Given the description of an element on the screen output the (x, y) to click on. 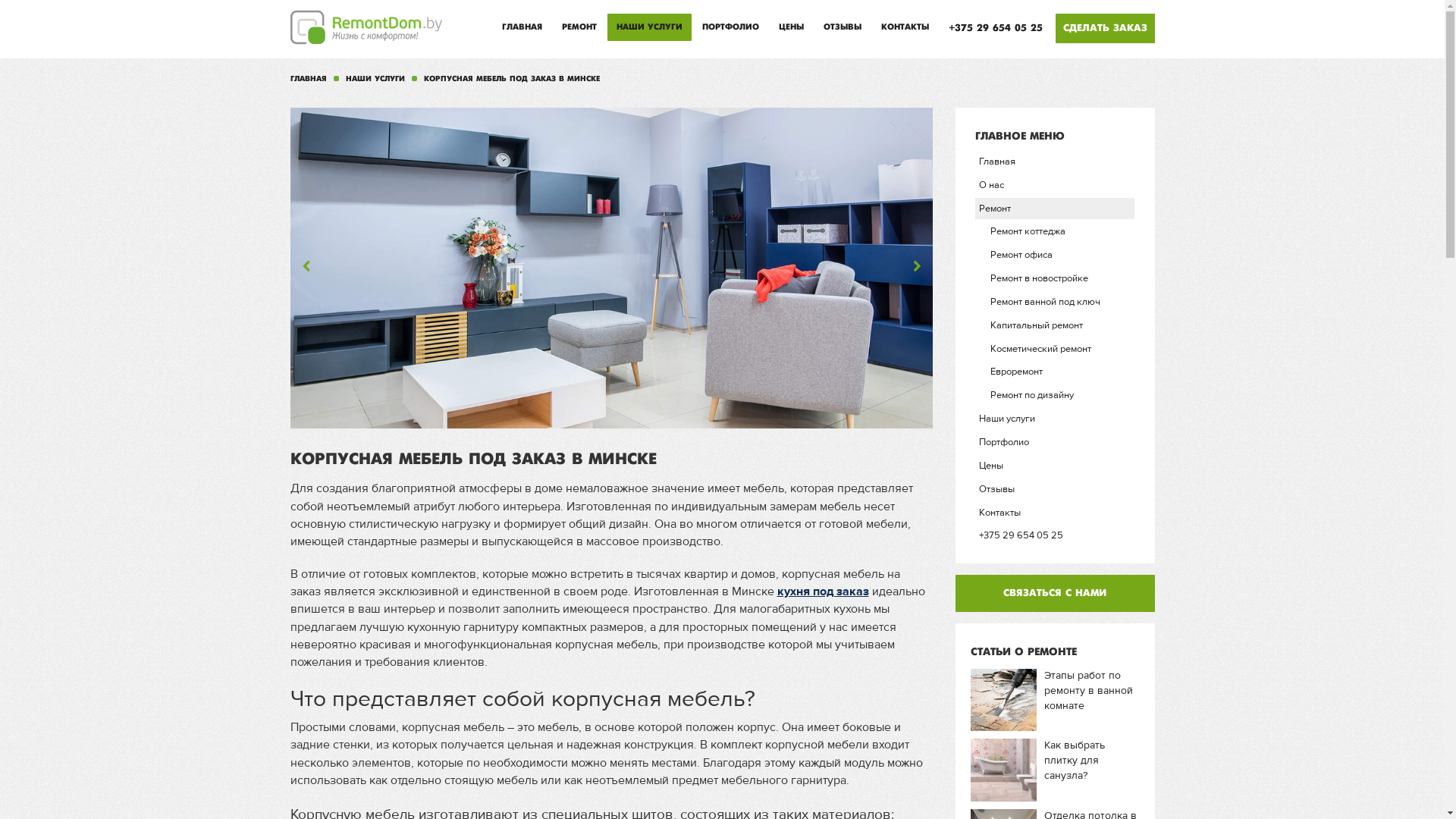
+375 29 654 05 25 Element type: text (1054, 535)
+375 29 654 05 25 Element type: text (994, 27)
